Given the description of an element on the screen output the (x, y) to click on. 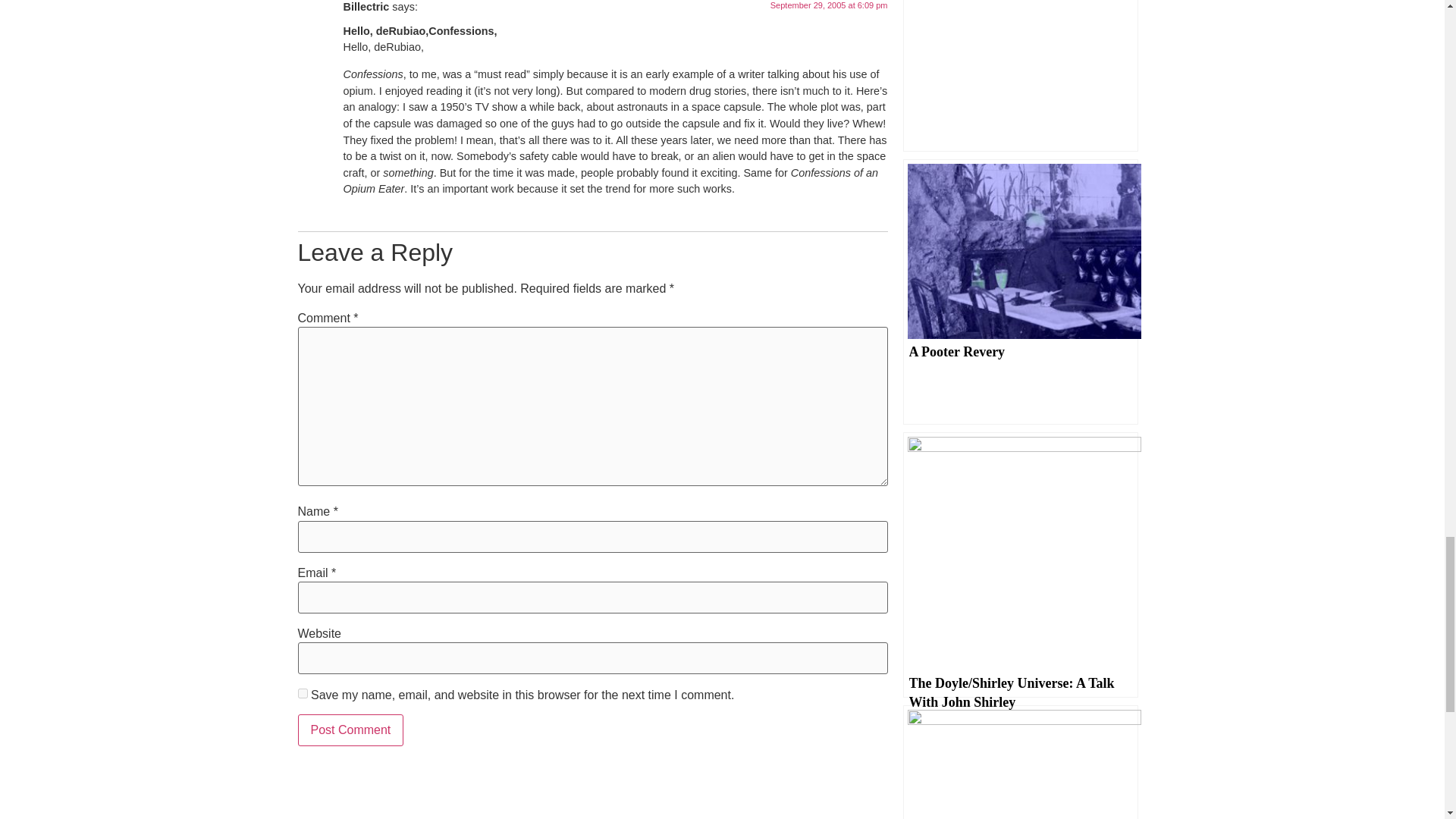
Post Comment (350, 730)
Glimpses (1019, 762)
yes (302, 693)
